Given the description of an element on the screen output the (x, y) to click on. 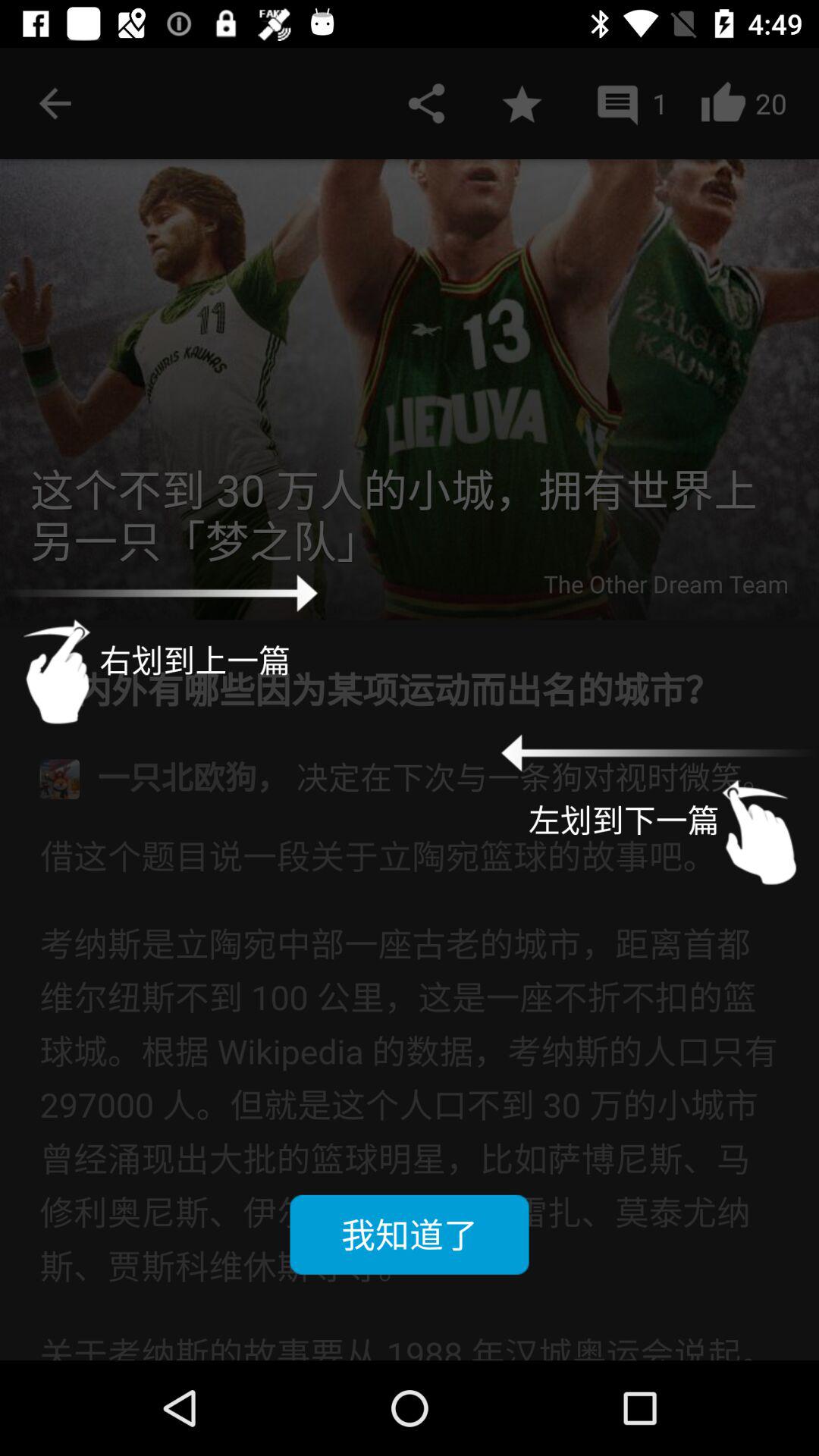
rating the picture (521, 103)
